Given the description of an element on the screen output the (x, y) to click on. 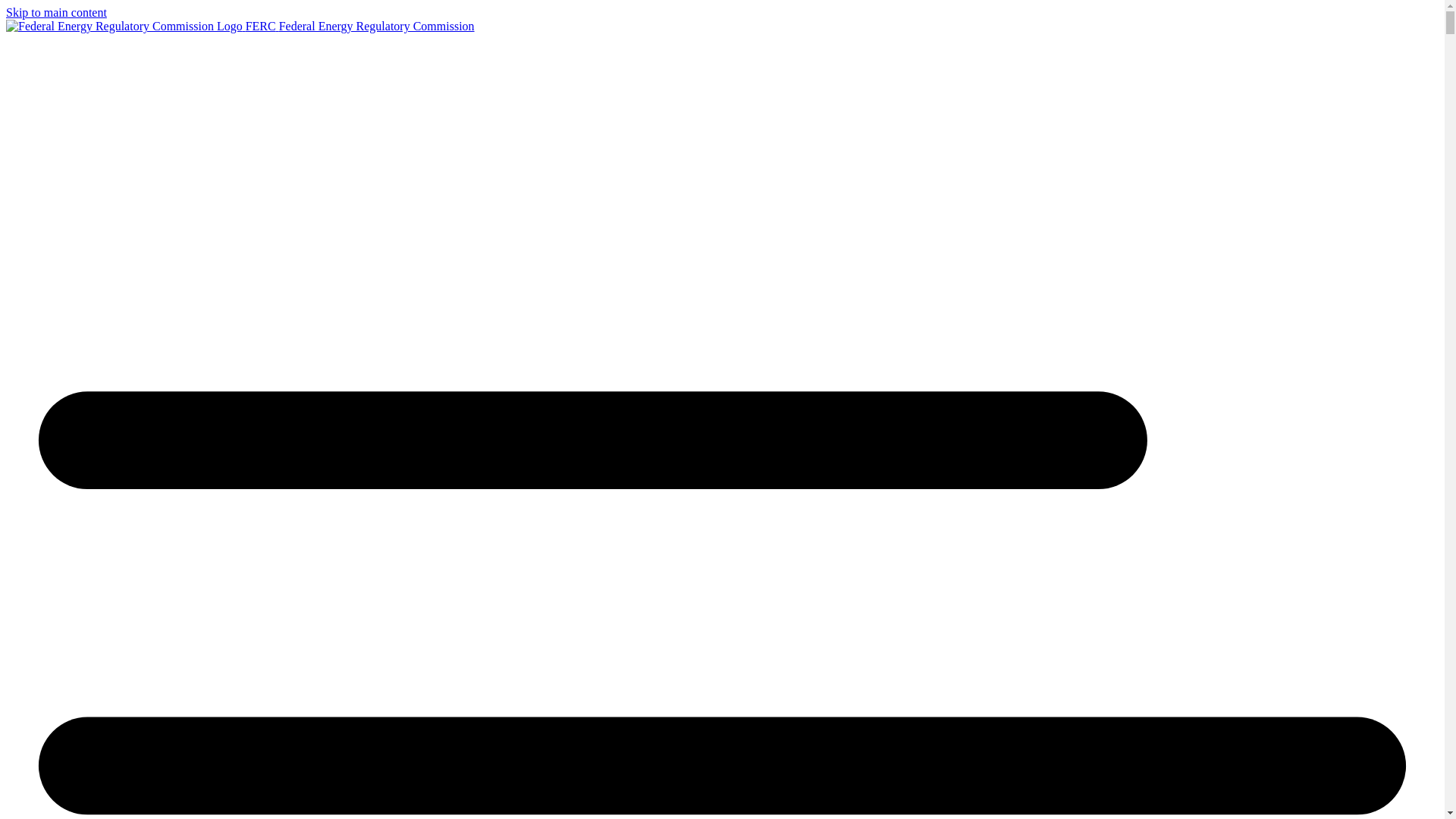
Skip to main content (55, 11)
FERC Federal Energy Regulatory Commission (239, 25)
Federal Energy Regulatory Commission (239, 25)
